Given the description of an element on the screen output the (x, y) to click on. 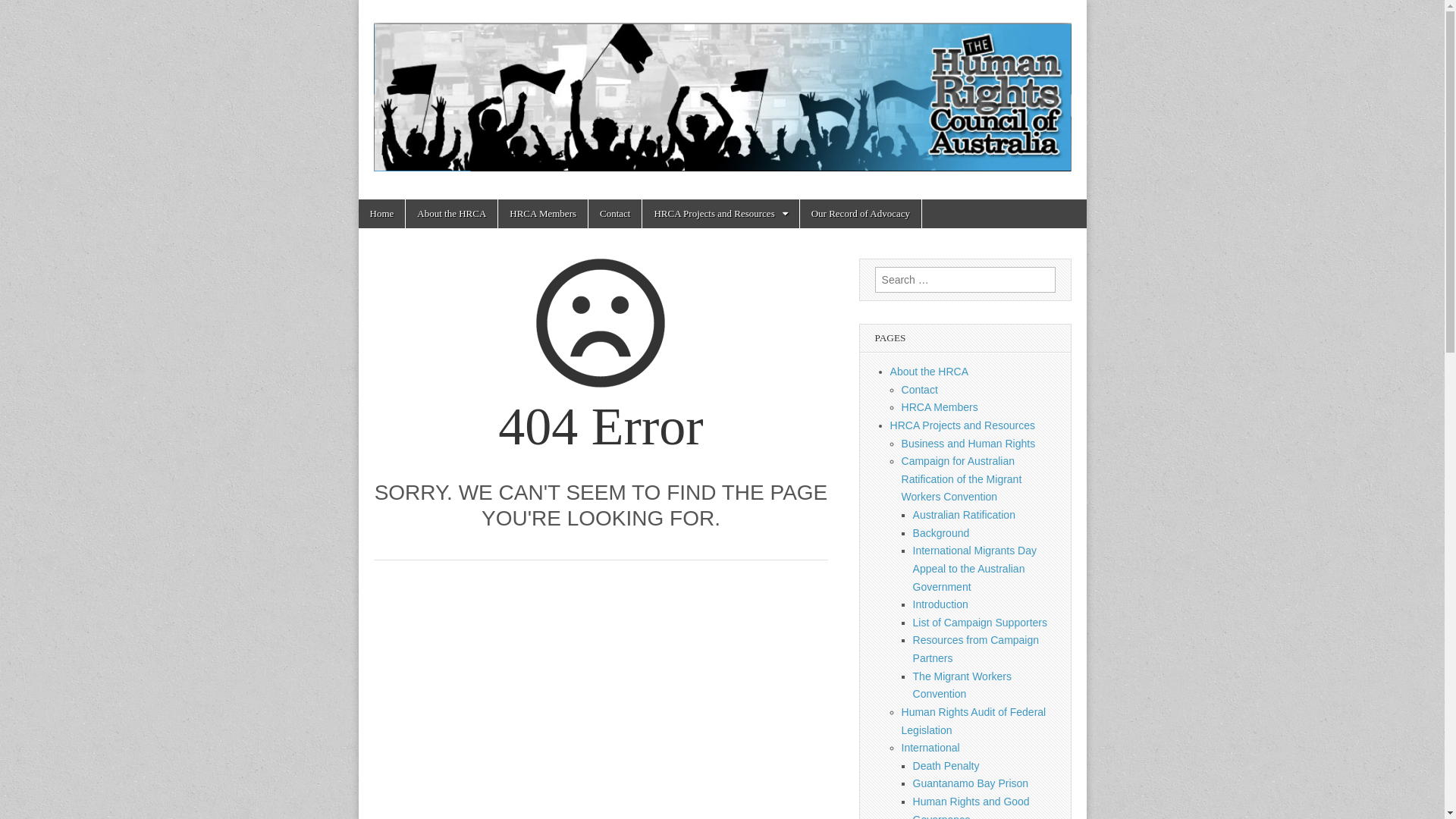
Death Penalty Element type: text (946, 765)
Background Element type: text (941, 533)
Australian Ratification Element type: text (964, 514)
HRCA Members Element type: text (939, 407)
Human Rights Audit of Federal Legislation Element type: text (973, 721)
Human Rights Council of Australia Element type: hover (721, 88)
Search Element type: text (23, 12)
Our Record of Advocacy Element type: text (860, 213)
Resources from Campaign Partners Element type: text (976, 648)
Home Element type: text (380, 213)
Contact Element type: text (919, 389)
List of Campaign Supporters Element type: text (980, 622)
Business and Human Rights Element type: text (968, 443)
Introduction Element type: text (940, 604)
HRCA Projects and Resources Element type: text (720, 213)
Skip to content Element type: text (357, 198)
About the HRCA Element type: text (929, 371)
International Element type: text (930, 747)
About the HRCA Element type: text (451, 213)
Contact Element type: text (614, 213)
Guantanamo Bay Prison Element type: text (971, 783)
The Migrant Workers Convention Element type: text (962, 685)
HRCA Members Element type: text (542, 213)
Human Rights Council of Australia Element type: text (439, 290)
HRCA Projects and Resources Element type: text (962, 425)
